Given the description of an element on the screen output the (x, y) to click on. 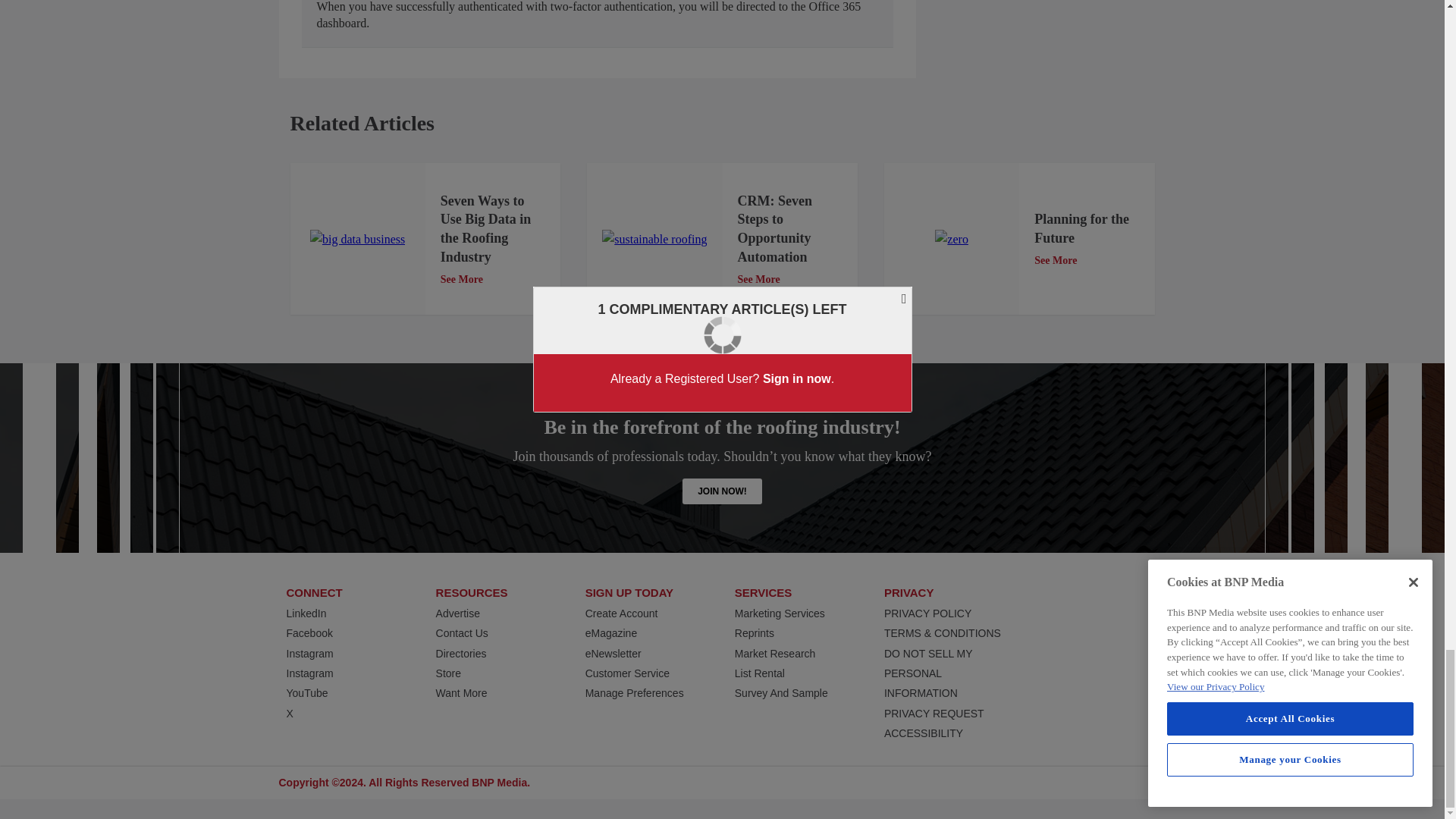
zero (951, 239)
